Given the description of an element on the screen output the (x, y) to click on. 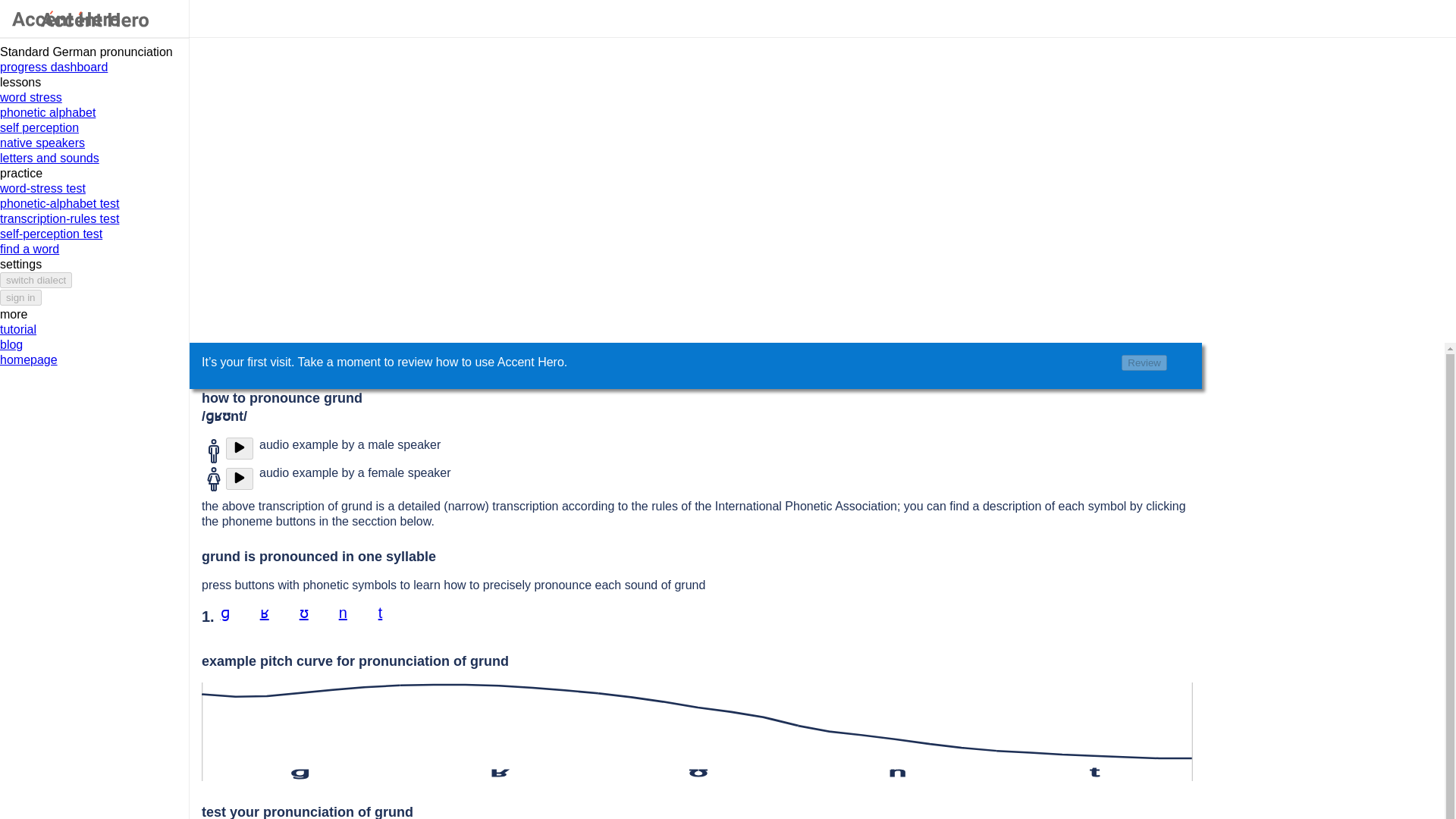
Learn how word stress influences your accent (94, 97)
learn the common correspondences between letters and sounds (94, 158)
learn how to receive feedback from native speakers (94, 142)
Learn to precisely articulate each sound (94, 112)
Learn how to evaluate your accent (94, 127)
